Given the description of an element on the screen output the (x, y) to click on. 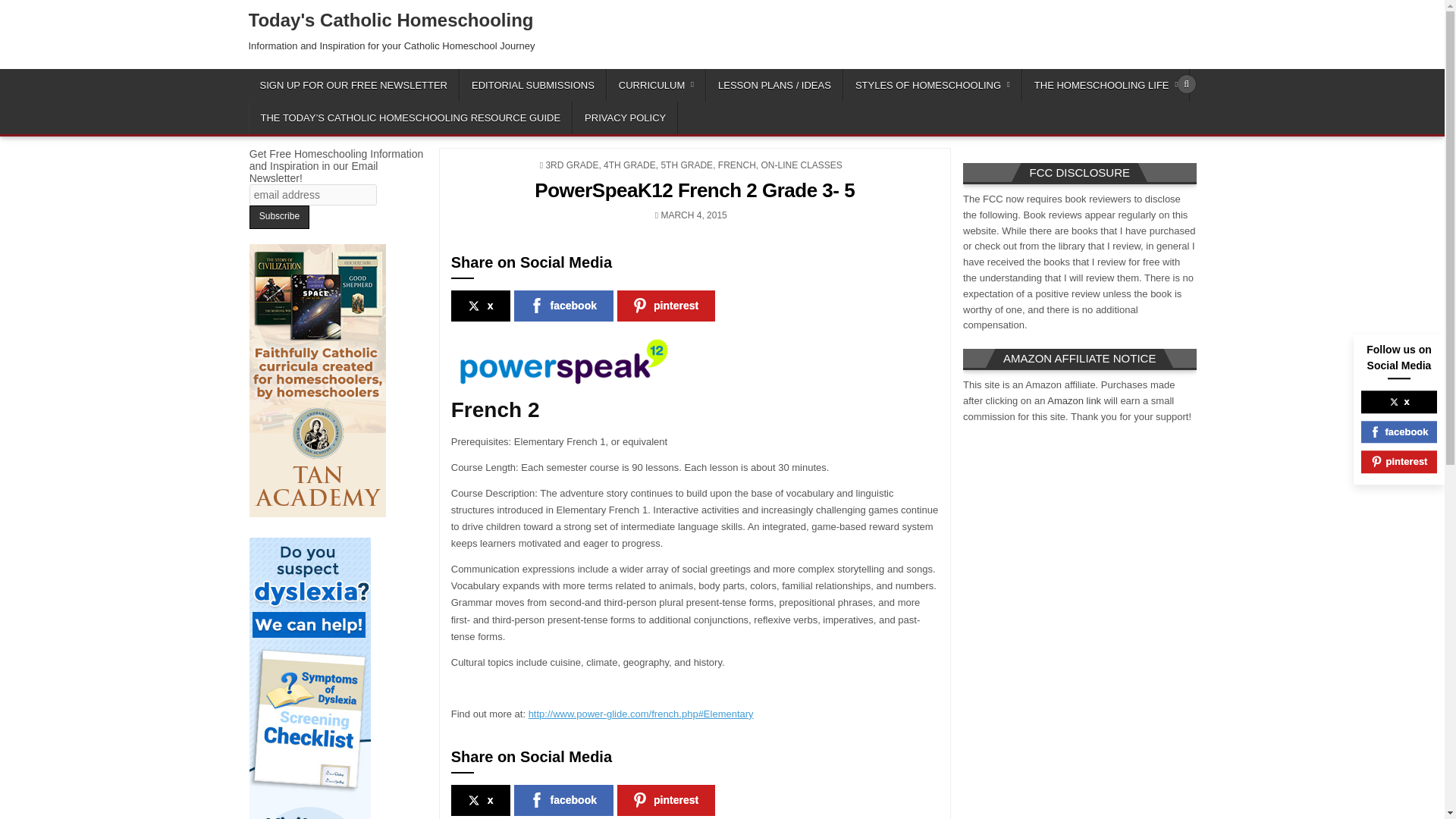
EDITORIAL SUBMISSIONS (533, 84)
CURRICULUM (656, 84)
Subscribe (278, 217)
Today's Catholic Homeschooling (391, 19)
SIGN UP FOR OUR FREE NEWSLETTER (354, 84)
Search (1185, 84)
